Given the description of an element on the screen output the (x, y) to click on. 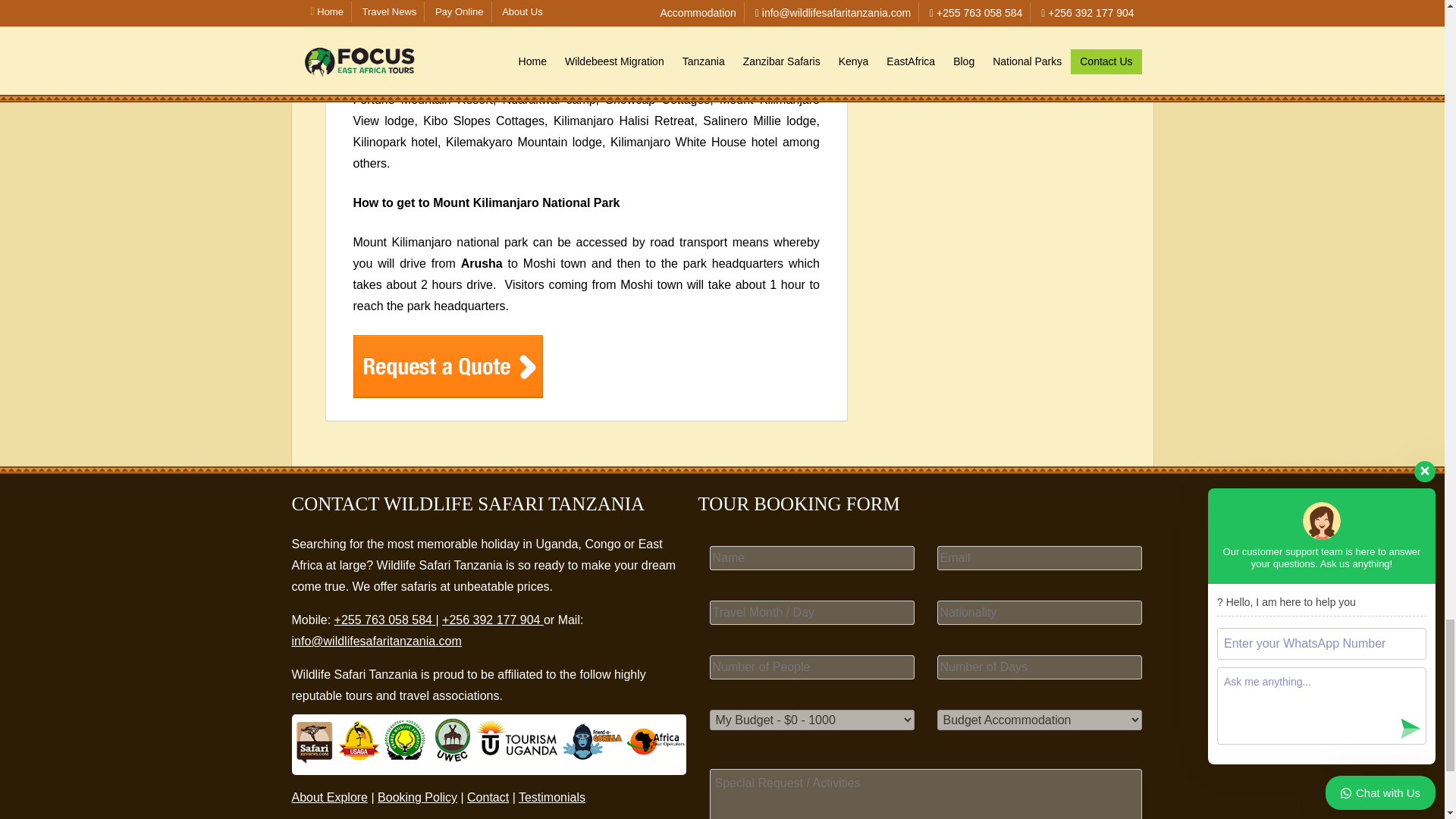
About Explore (329, 797)
Contact (487, 797)
Testimonials (551, 797)
Booking Policy (417, 797)
